Given the description of an element on the screen output the (x, y) to click on. 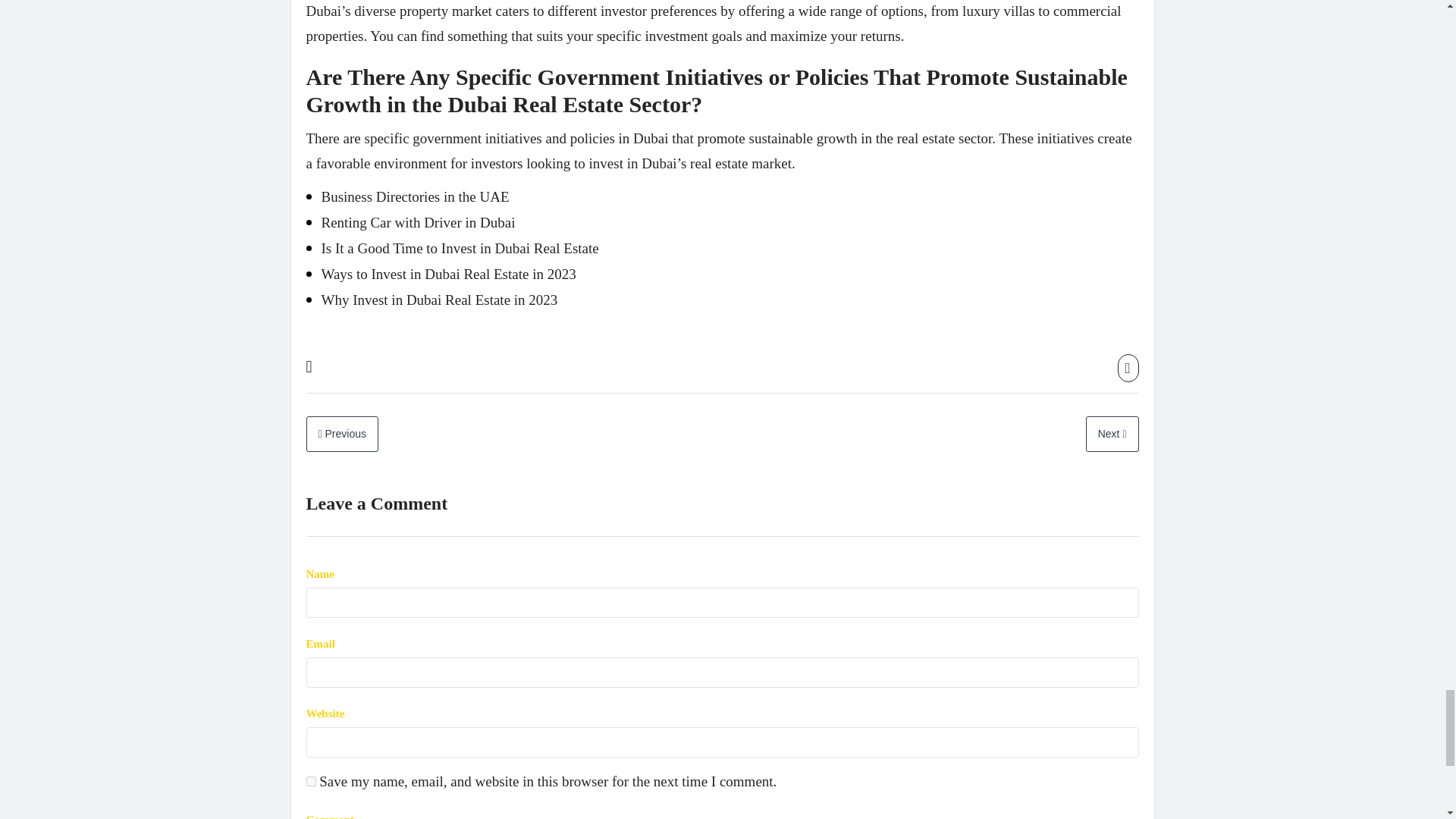
yes (310, 781)
